Given the description of an element on the screen output the (x, y) to click on. 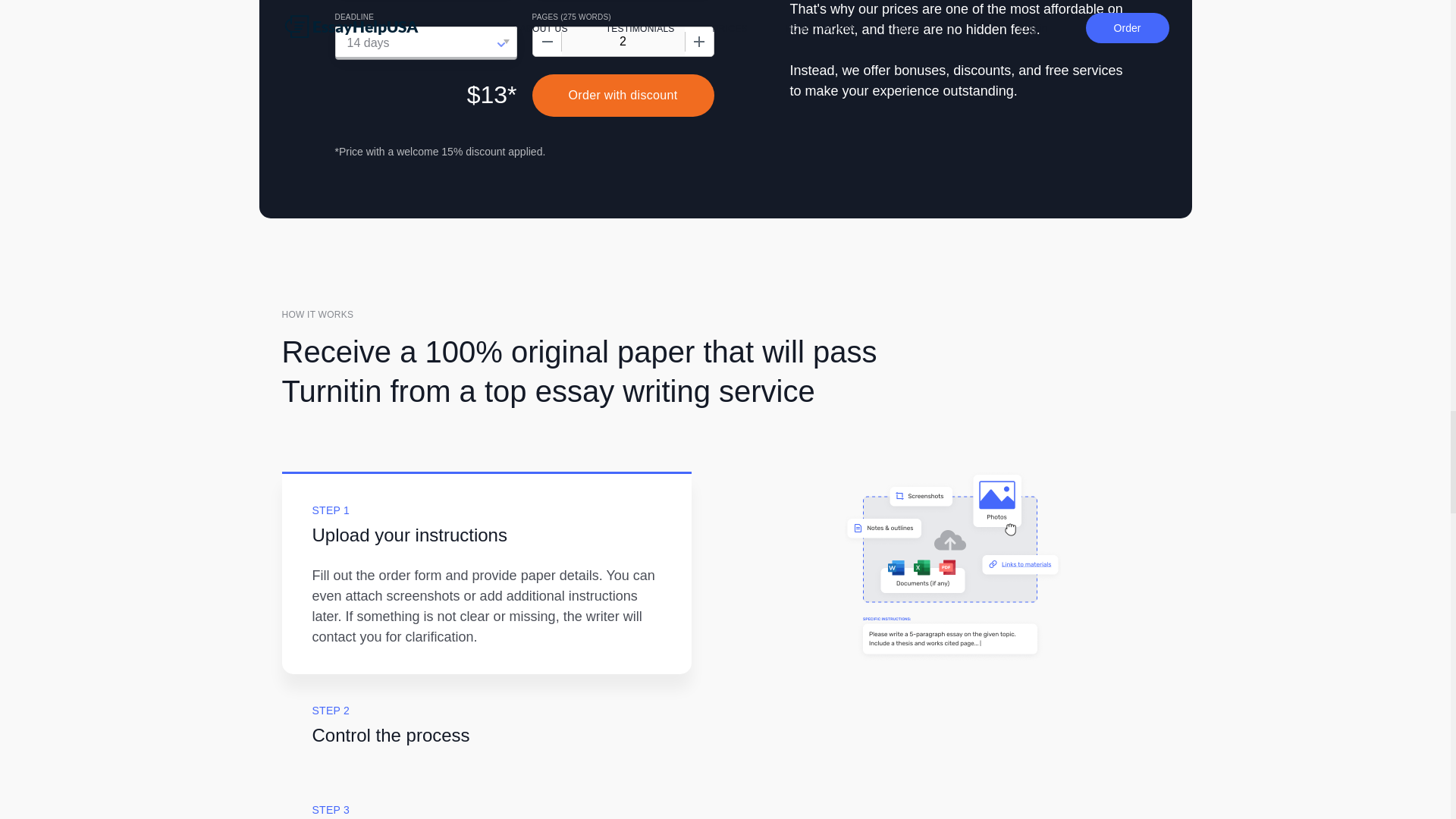
Order with discount (623, 95)
Decrease (546, 41)
2 (622, 41)
Increase (698, 41)
